Given the description of an element on the screen output the (x, y) to click on. 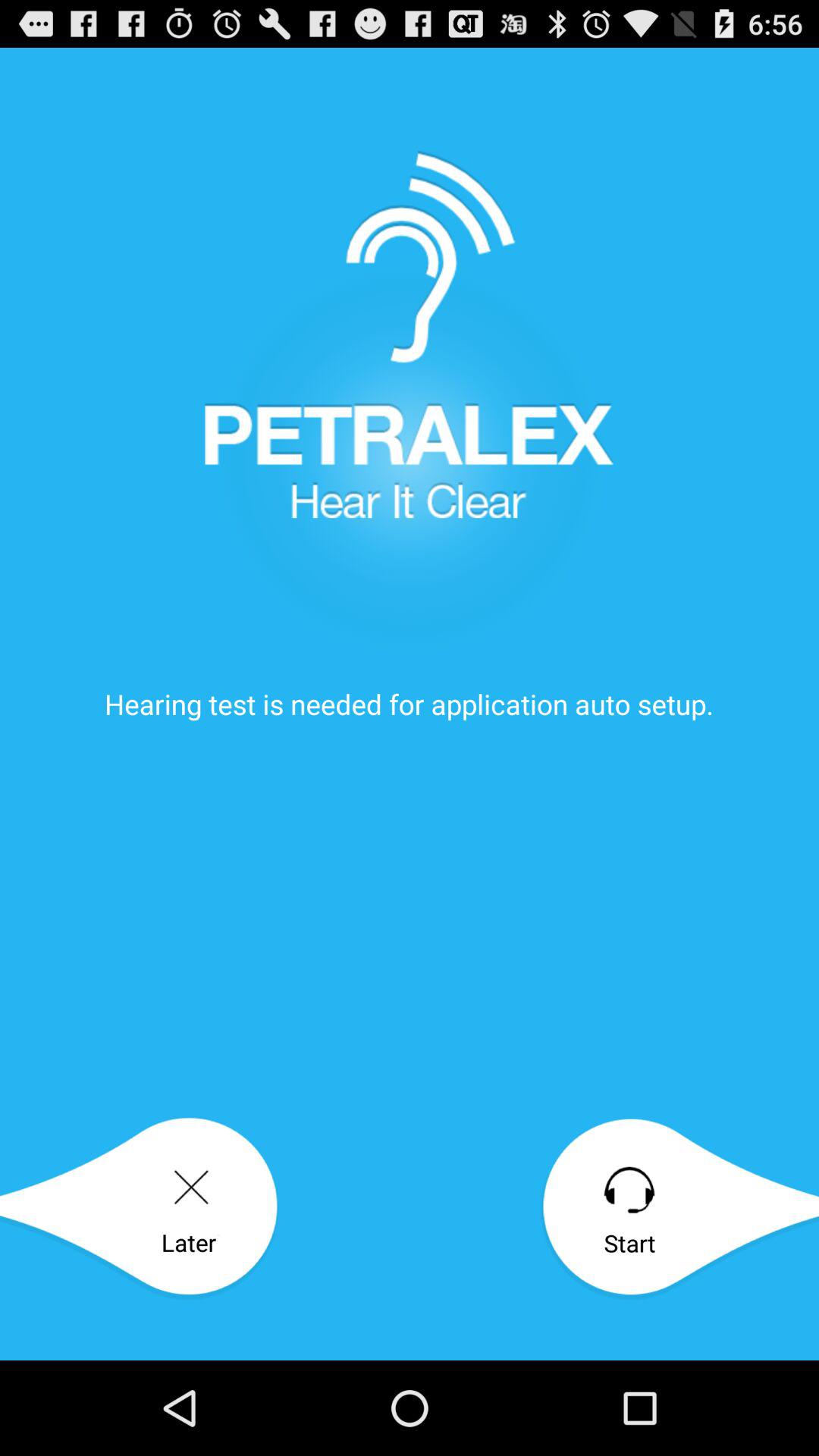
click the icon next to later item (679, 1208)
